Given the description of an element on the screen output the (x, y) to click on. 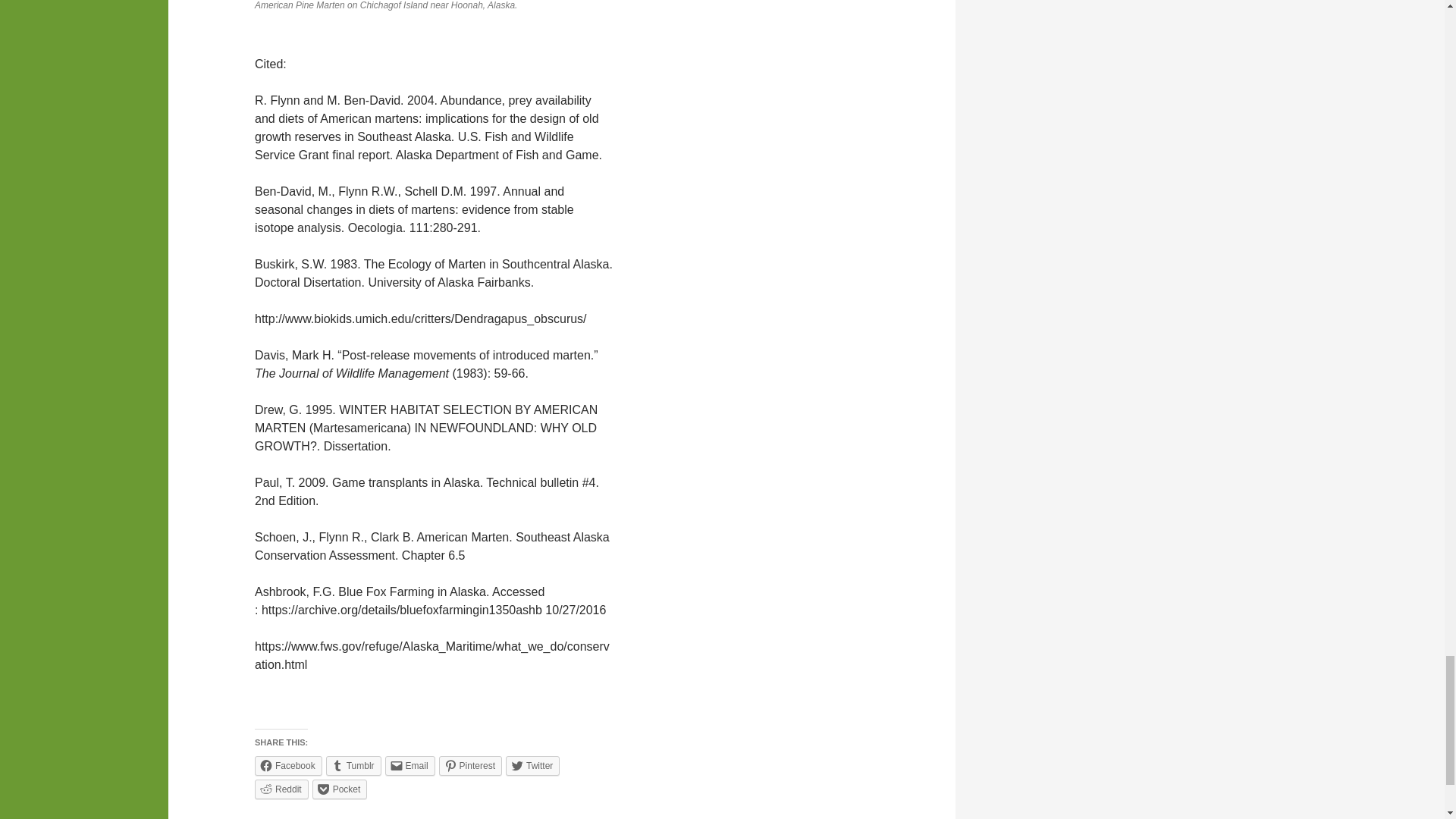
Twitter (532, 765)
Click to share on Twitter (532, 765)
Click to share on Tumblr (353, 765)
Click to share on Reddit (281, 789)
Click to email this to a friend (410, 765)
Facebook (287, 765)
Click to share on Pinterest (470, 765)
Click to share on Pocket (340, 789)
Tumblr (353, 765)
Email (410, 765)
